Given the description of an element on the screen output the (x, y) to click on. 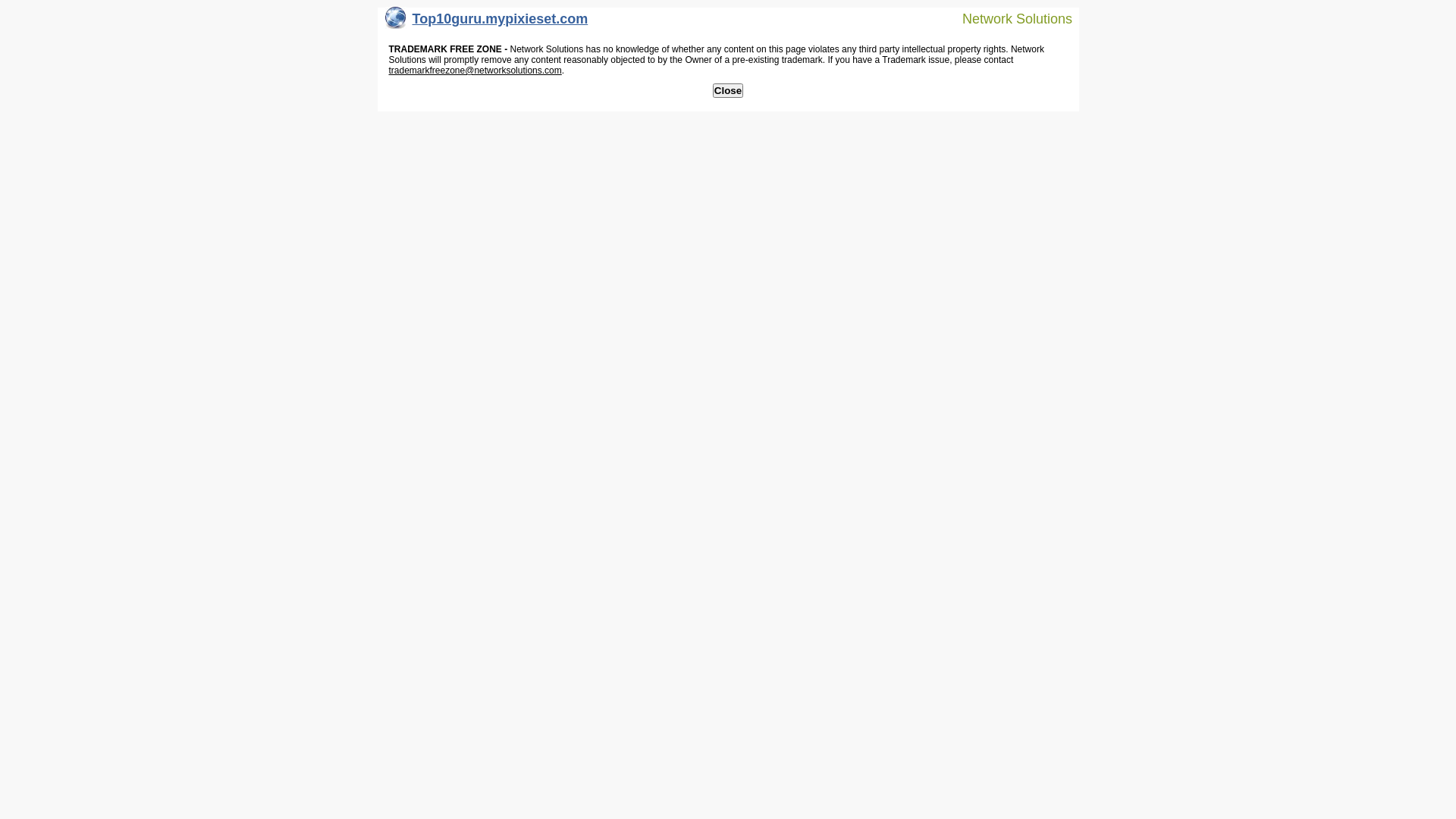
Network Solutions Element type: text (1007, 17)
Close Element type: text (727, 90)
Top10guru.mypixieset.com Element type: text (486, 21)
trademarkfreezone@networksolutions.com Element type: text (474, 70)
